Given the description of an element on the screen output the (x, y) to click on. 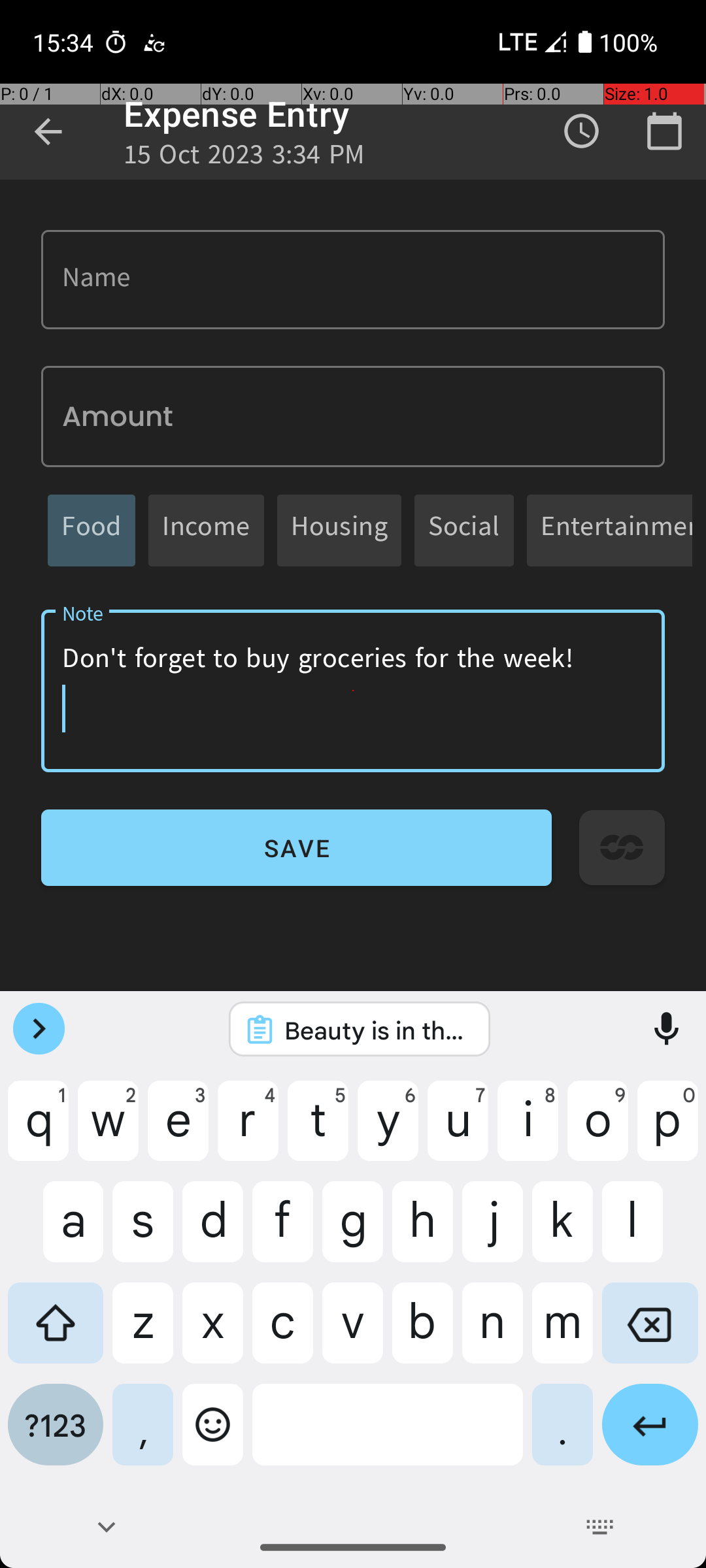
Don't forget to buy groceries for the week!
 Element type: android.widget.EditText (352, 690)
Beauty is in the eye of the beholder. Element type: android.widget.TextView (376, 1029)
